Given the description of an element on the screen output the (x, y) to click on. 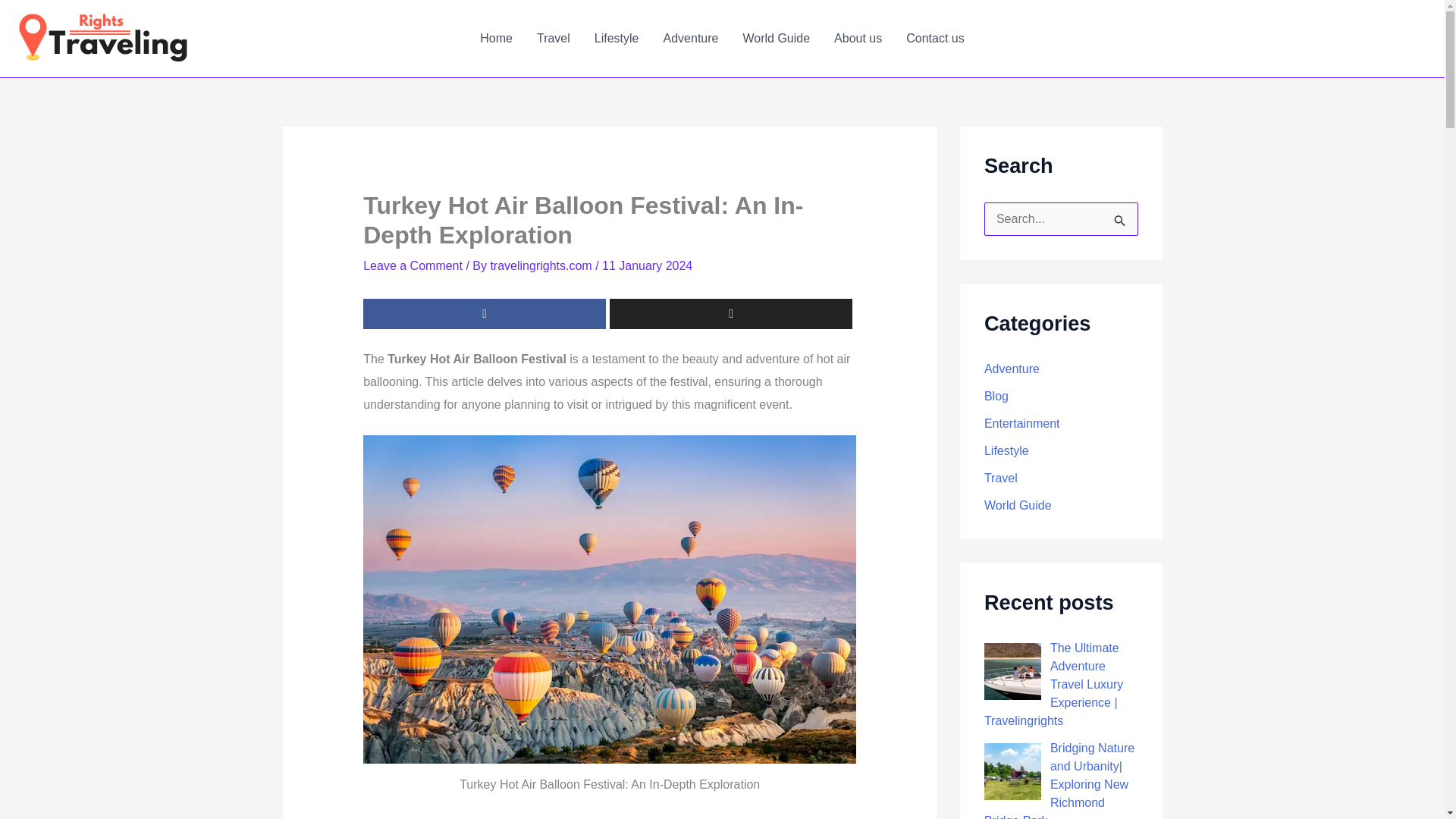
View all posts by travelingrights.com (542, 265)
Lifestyle (616, 38)
Home (495, 38)
About us (857, 38)
World Guide (776, 38)
Travel (553, 38)
Contact us (934, 38)
Adventure (690, 38)
Leave a Comment (412, 265)
